Given the description of an element on the screen output the (x, y) to click on. 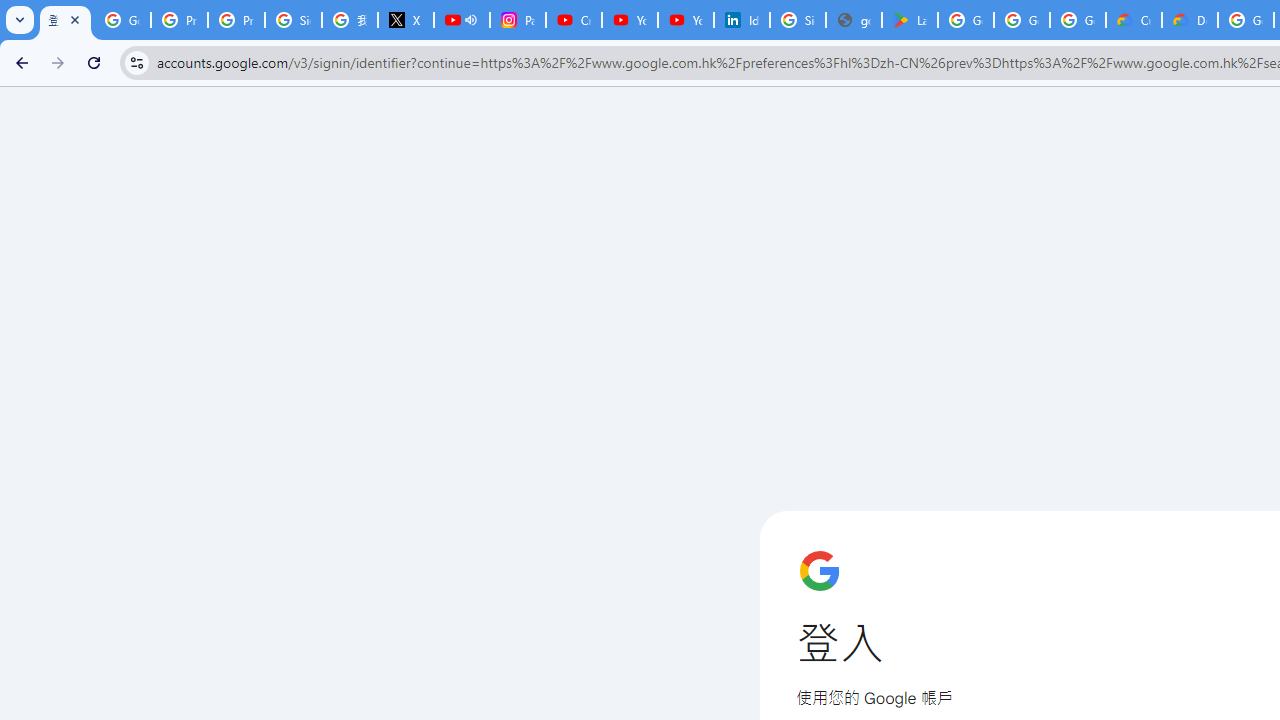
Mute tab (470, 20)
Last Shelter: Survival - Apps on Google Play (909, 20)
Customer Care | Google Cloud (1133, 20)
Privacy Help Center - Policies Help (235, 20)
Google Workspace - Specific Terms (1077, 20)
Sign in - Google Accounts (797, 20)
YouTube Culture & Trends - YouTube Top 10, 2021 (685, 20)
